Given the description of an element on the screen output the (x, y) to click on. 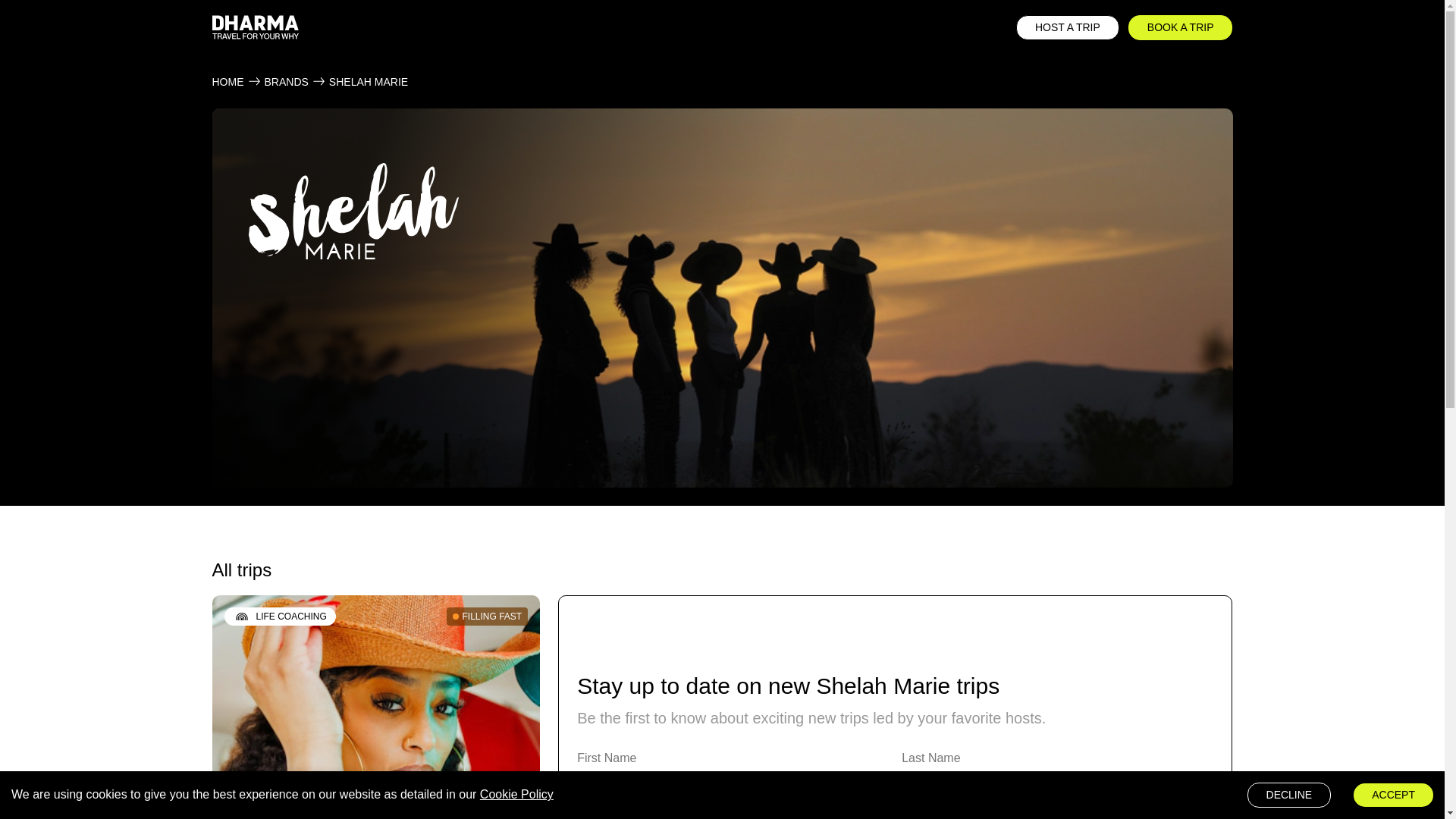
HOME (228, 82)
ACCEPT (1393, 794)
HOST A TRIP (1067, 27)
Cookie Policy (516, 793)
BOOK A TRIP (1180, 27)
DECLINE (1289, 794)
BRANDS (285, 82)
SHELAH MARIE (368, 82)
